Given the description of an element on the screen output the (x, y) to click on. 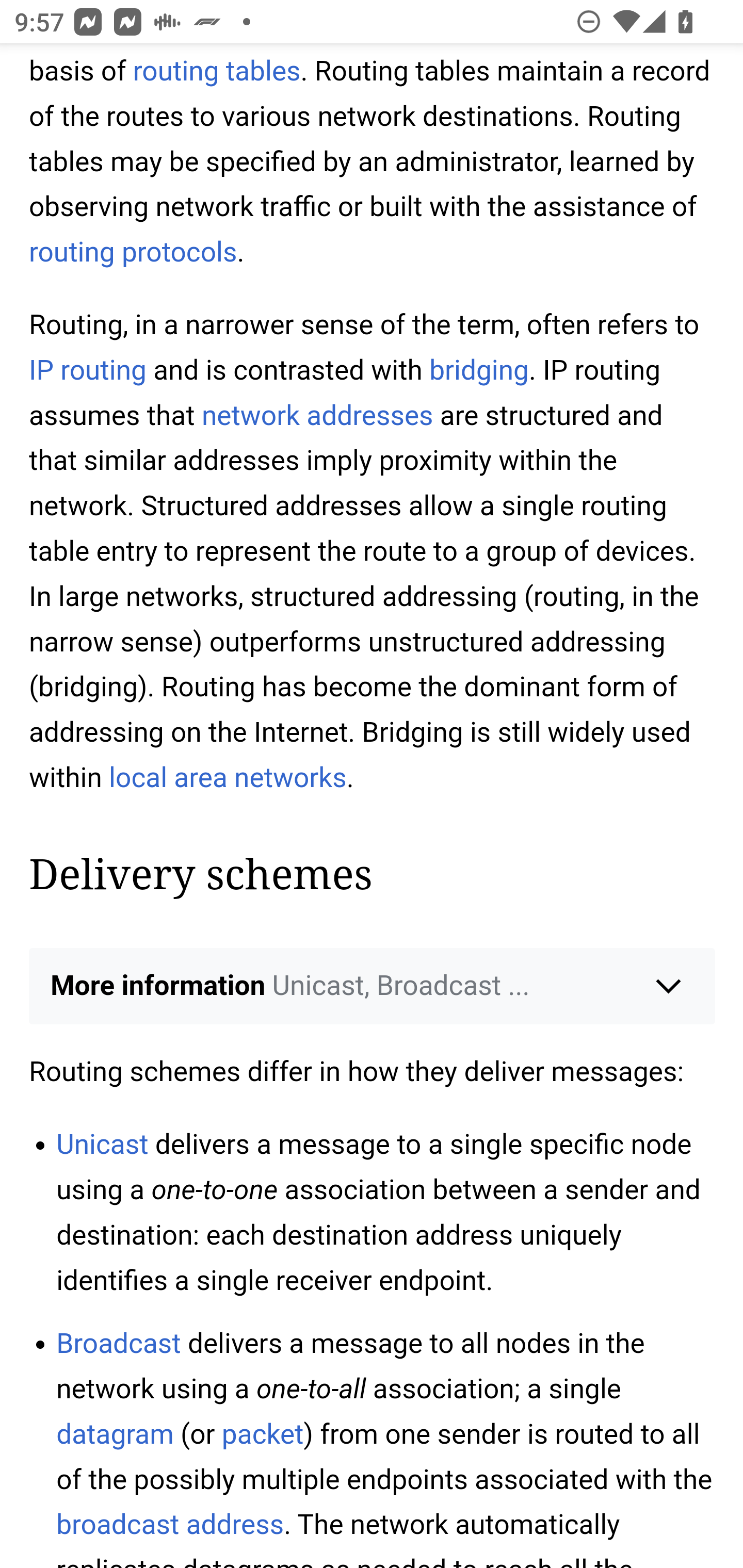
routing tables (216, 70)
routing protocols (133, 253)
IP routing (87, 370)
bridging (478, 370)
network addresses (316, 415)
local area networks (228, 777)
Unicast (102, 1144)
Broadcast (118, 1343)
datagram (114, 1434)
packet (262, 1434)
broadcast address (170, 1523)
